Given the description of an element on the screen output the (x, y) to click on. 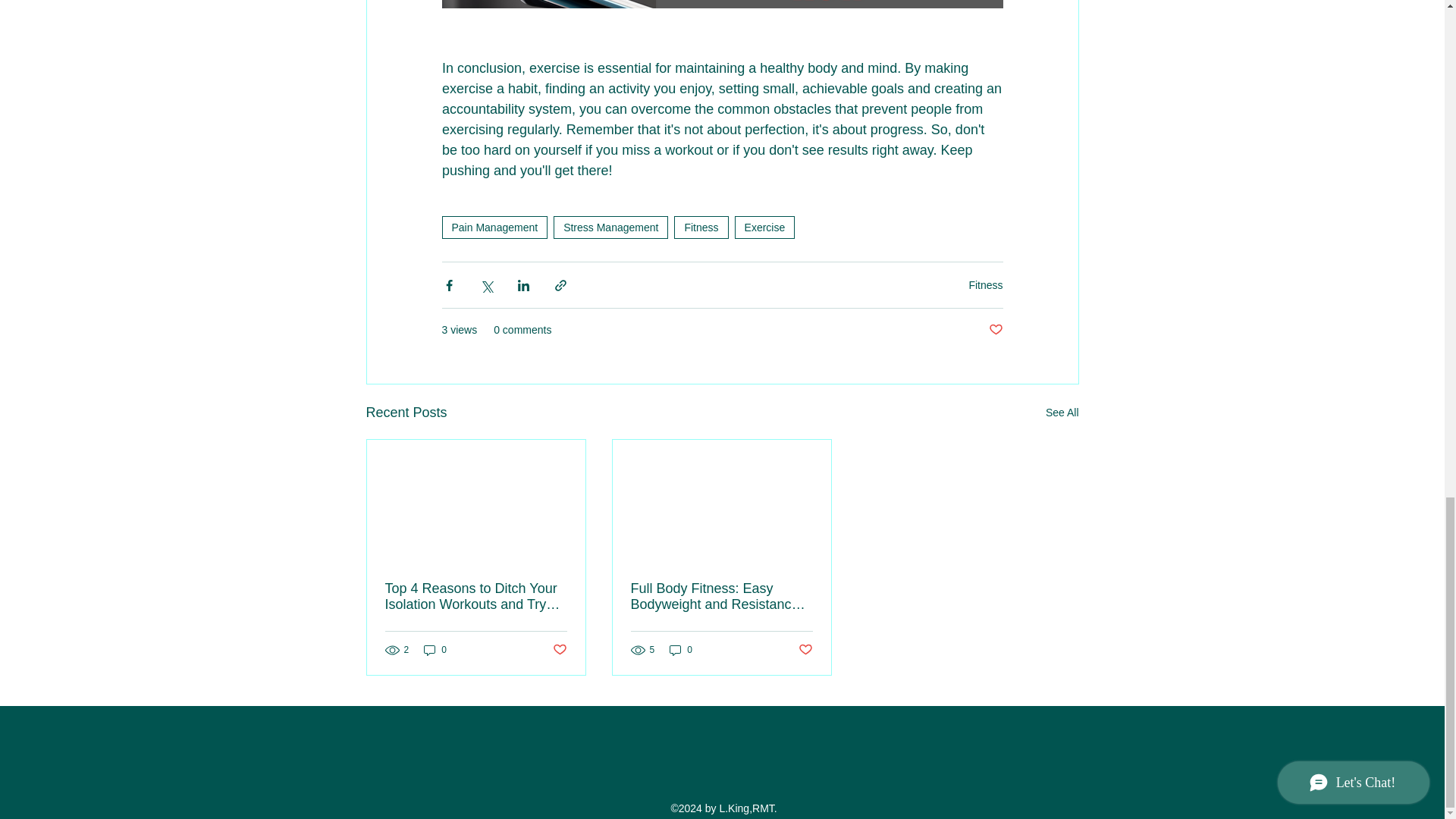
See All (1061, 413)
Post not marked as liked (804, 650)
0 (435, 649)
Exercise (764, 227)
Post not marked as liked (558, 650)
Fitness (985, 285)
Post not marked as liked (995, 330)
0 (681, 649)
Fitness (701, 227)
Pain Management (494, 227)
Stress Management (610, 227)
